Given the description of an element on the screen output the (x, y) to click on. 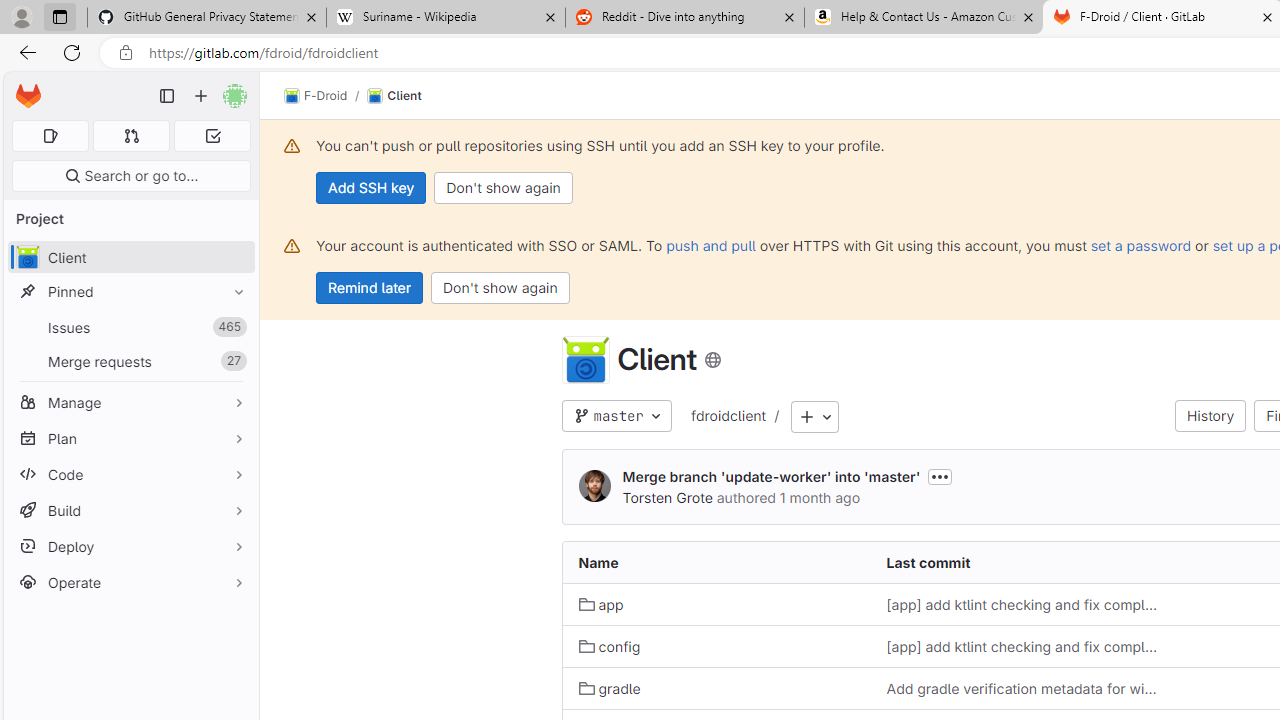
Client (585, 359)
Torsten Grote's avatar (594, 487)
Assigned issues 0 (50, 136)
[app] add ktlint checking and fix complaints it has (1024, 646)
History (1209, 416)
config (609, 646)
F-Droid (316, 96)
app (601, 605)
Merge branch 'update-worker' into 'master' (771, 476)
Operate (130, 582)
Operate (130, 582)
Code (130, 474)
